Given the description of an element on the screen output the (x, y) to click on. 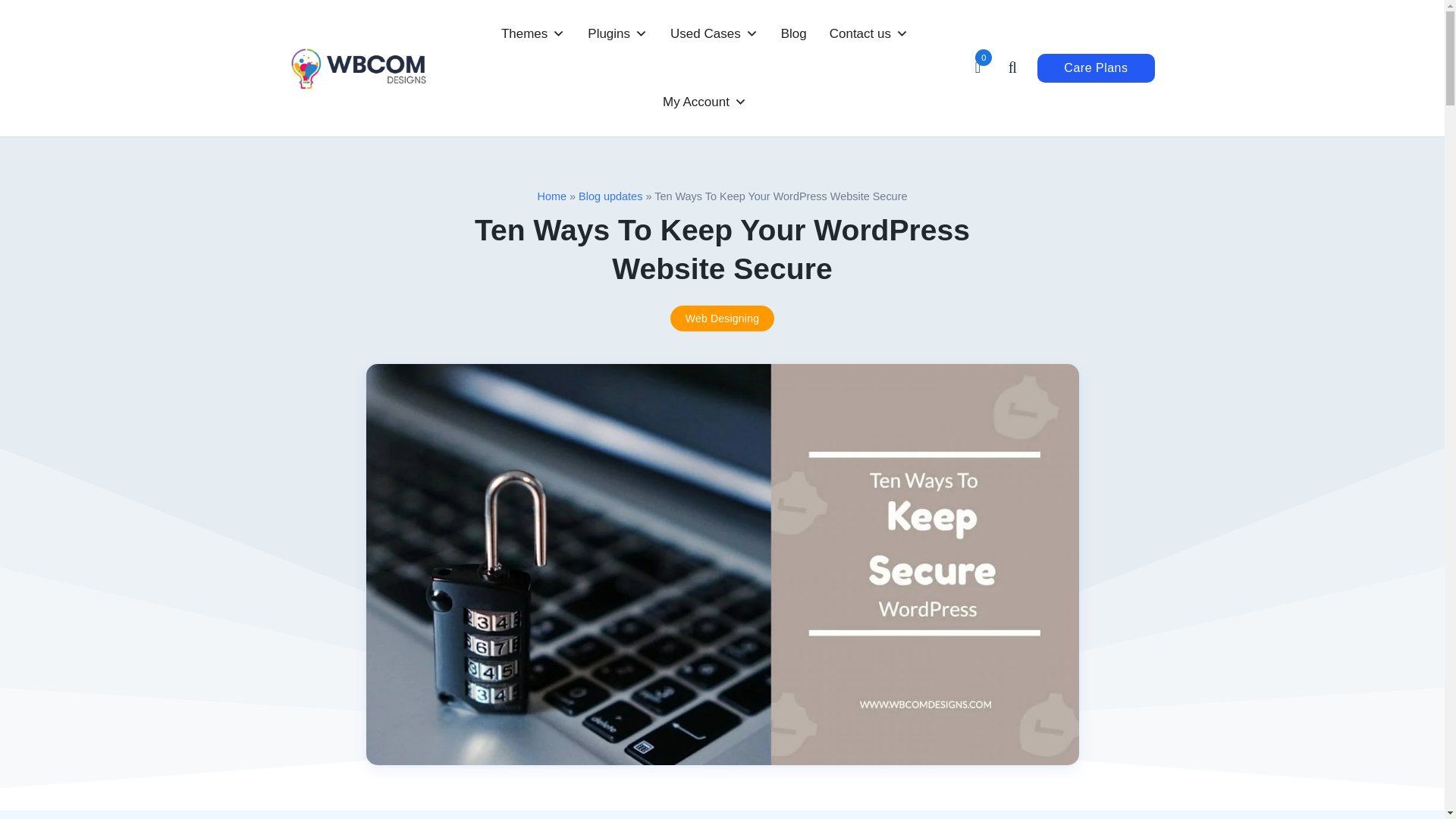
Themes (532, 33)
Plugins (617, 33)
